Given the description of an element on the screen output the (x, y) to click on. 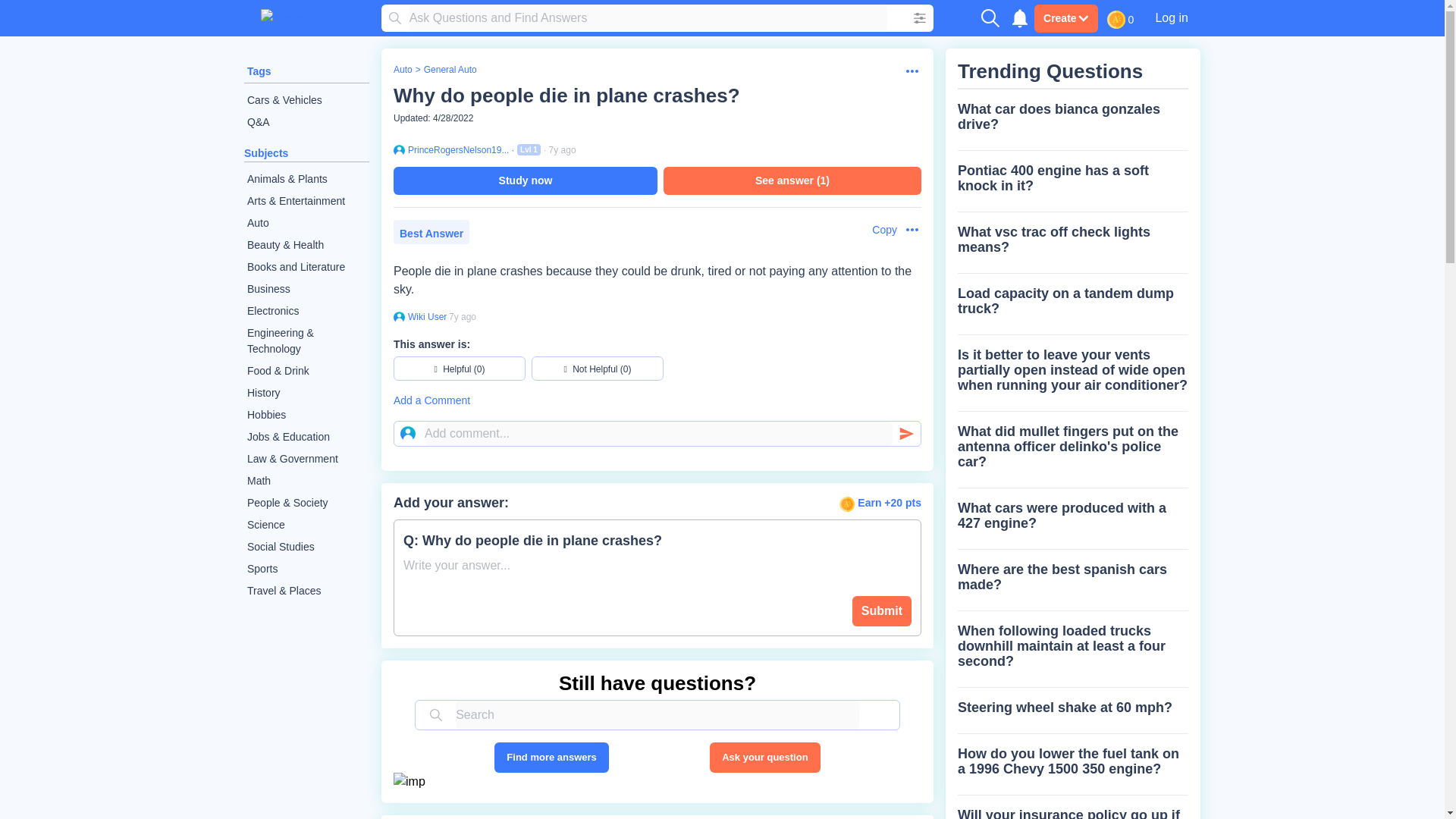
Create (1065, 18)
Wiki User (425, 316)
Books and Literature (306, 267)
Log in (1170, 17)
History (306, 393)
General Auto (450, 69)
Study now (525, 180)
Copy (876, 229)
Business (306, 289)
Why do people die in plane crashes? (566, 95)
